Given the description of an element on the screen output the (x, y) to click on. 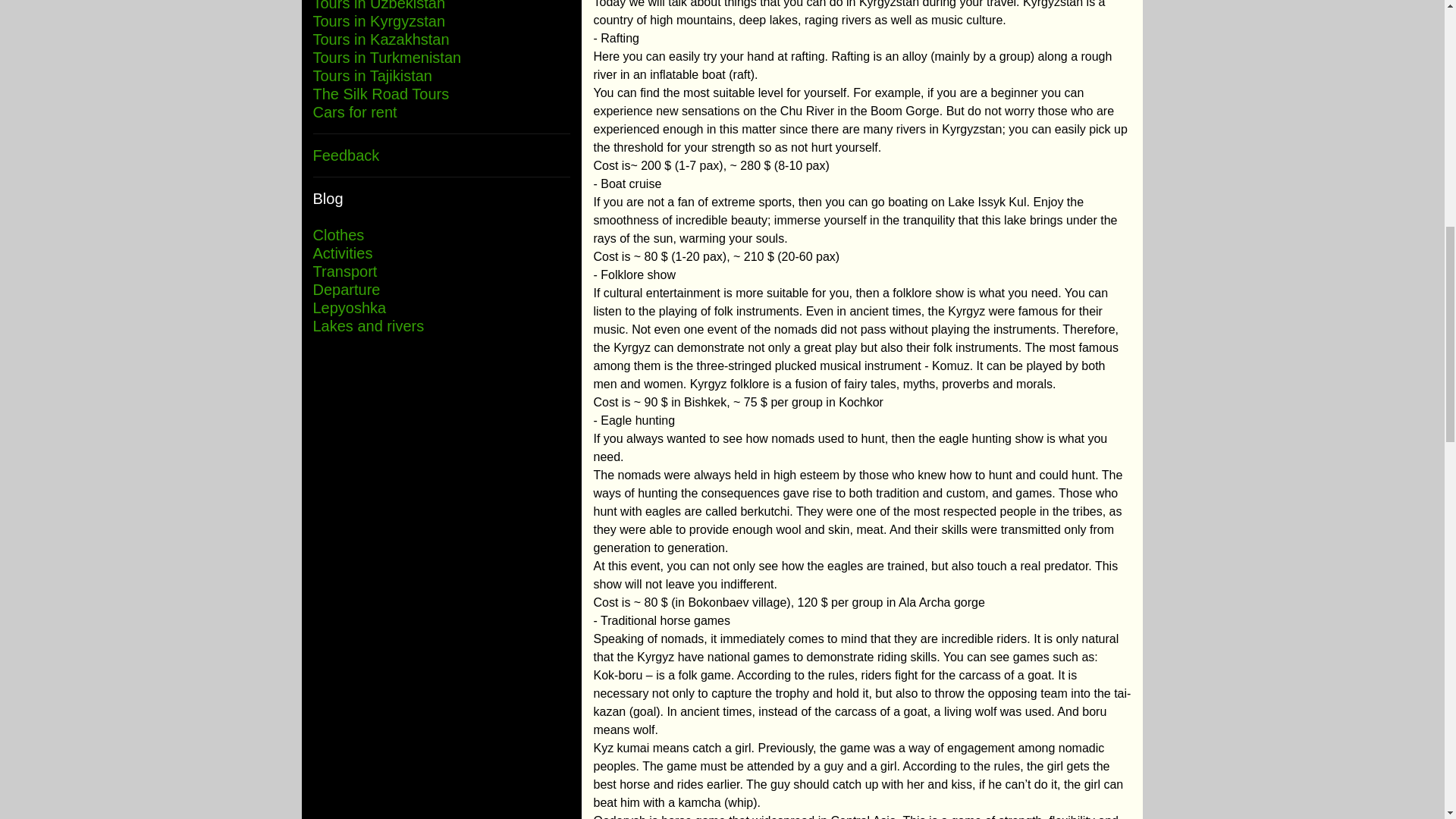
Tours in Tajikistan (371, 75)
Tours in Kazakhstan (380, 48)
Lepyoshka (349, 307)
Tours in Turkmenistan (387, 57)
Lakes and rivers (368, 325)
Clothes (338, 234)
Feedback (345, 155)
The Silk Road Tours (380, 93)
Activities (342, 252)
Tours in Kyrgyzstan (379, 21)
Departure (346, 289)
Tours in Uzbekistan (379, 5)
Transport (345, 271)
Cars for rent (380, 121)
